Given the description of an element on the screen output the (x, y) to click on. 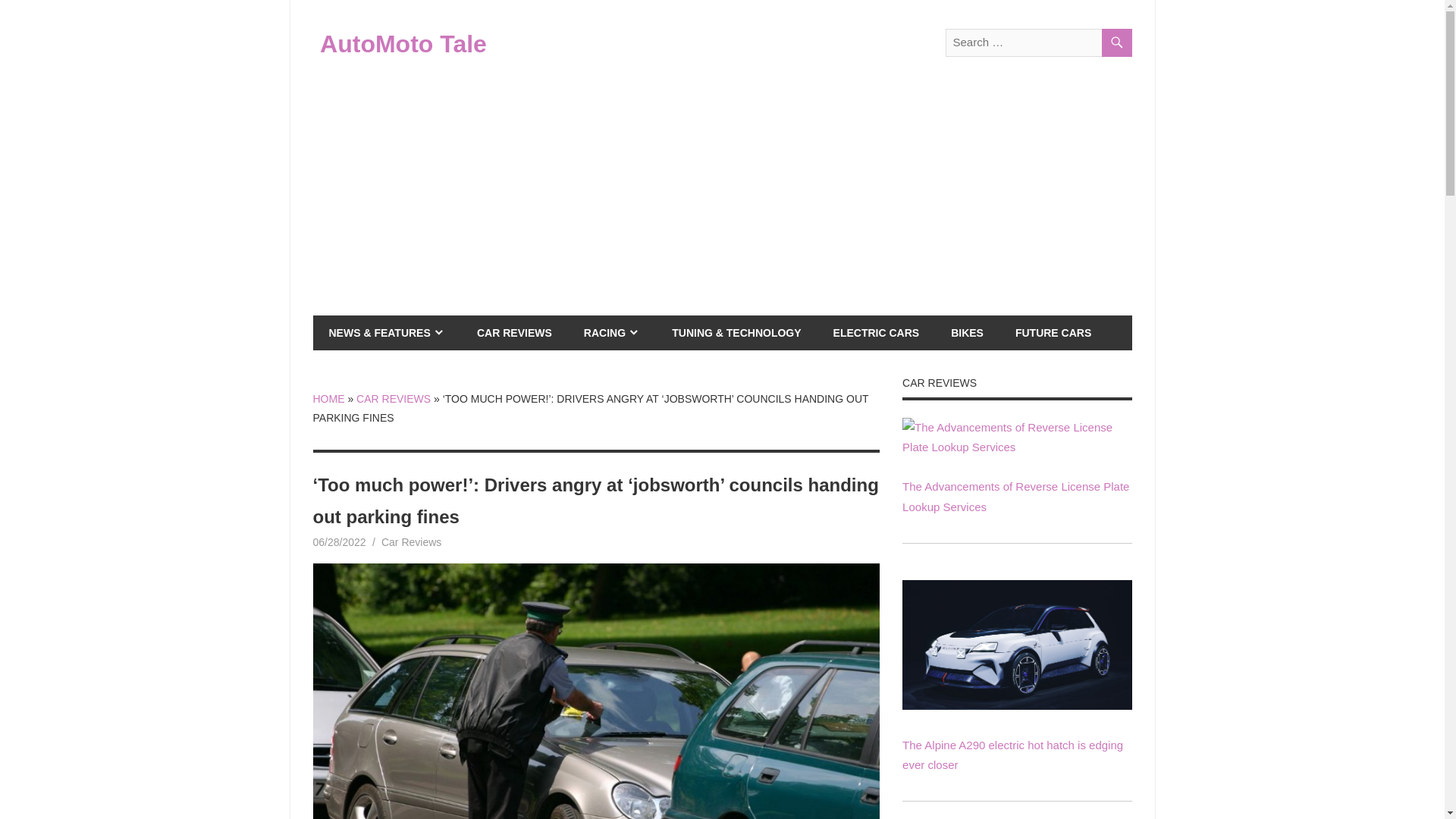
BIKES (966, 332)
Car Reviews (411, 541)
The Alpine A290 electric hot hatch is edging ever closer (1016, 705)
mediabest (403, 541)
RACING (611, 332)
HOME (328, 398)
Search for: (1037, 42)
CAR REVIEWS (514, 332)
The Alpine A290 electric hot hatch is edging ever closer (1016, 644)
AutoMoto Tale (403, 43)
